Given the description of an element on the screen output the (x, y) to click on. 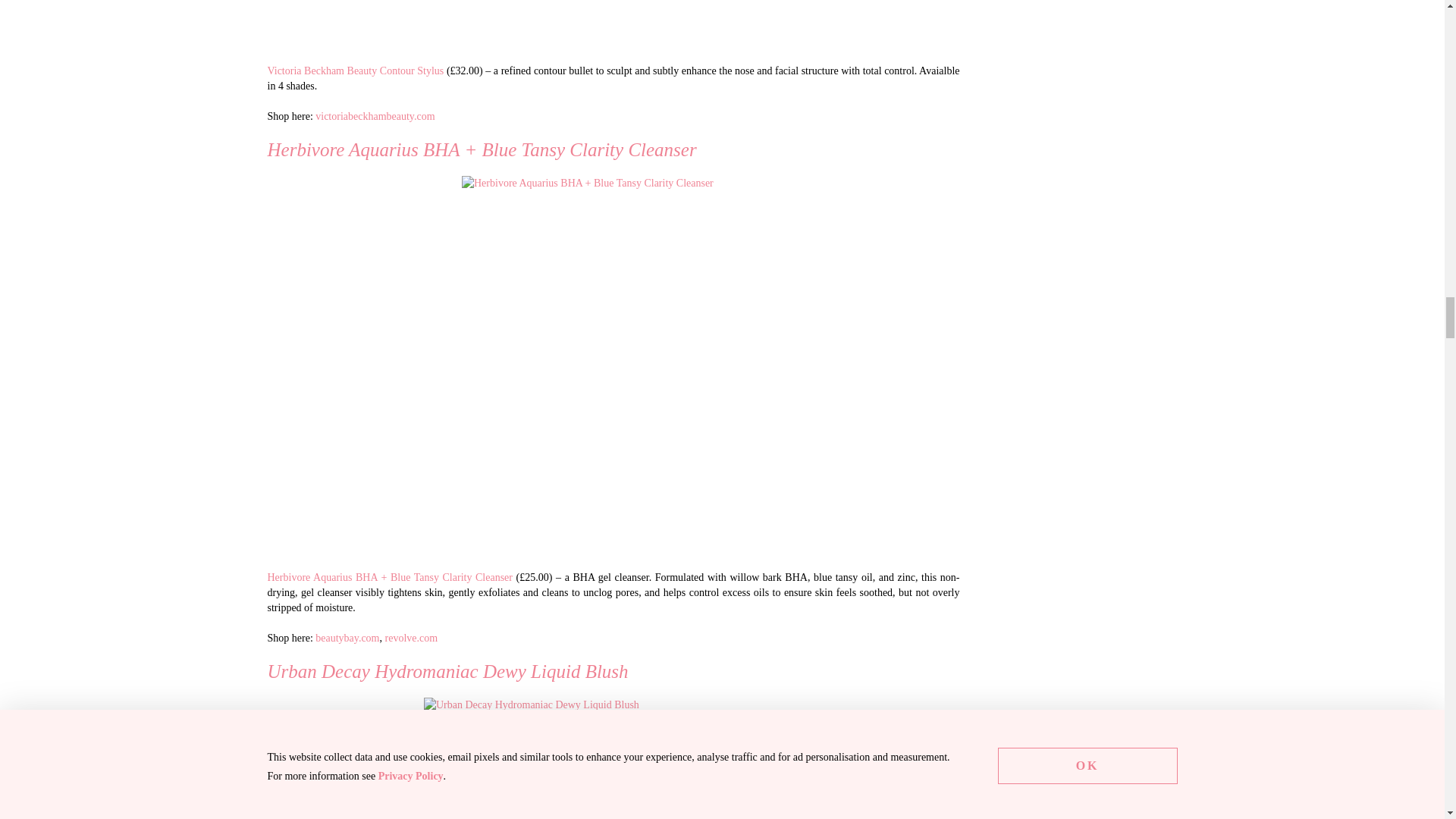
Urban Decay Hydromaniac Dewy Liquid Blush (613, 758)
Victoria Beckham Beauty Contour Stylus (613, 24)
